Given the description of an element on the screen output the (x, y) to click on. 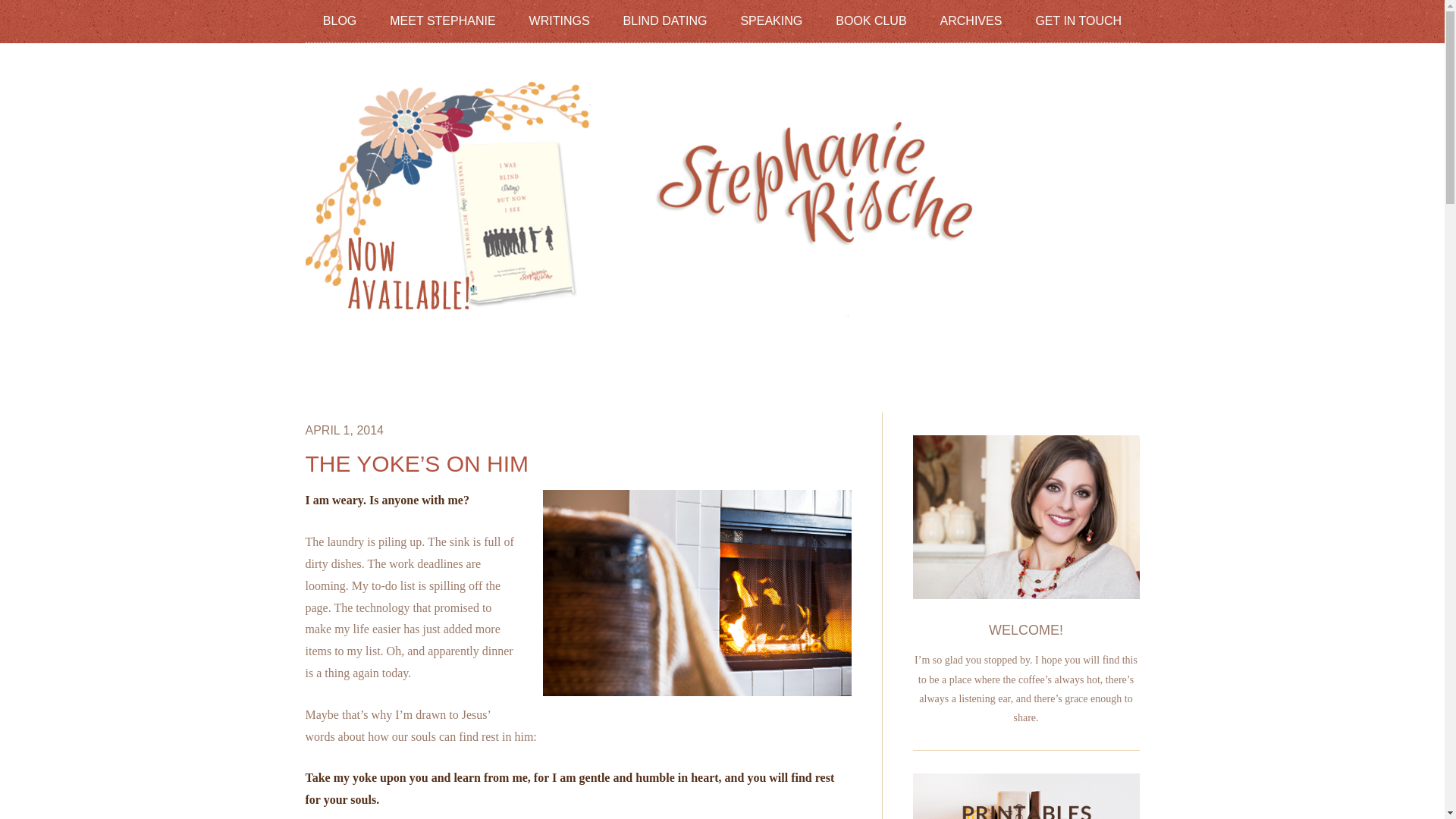
WRITINGS (559, 20)
MEET STEPHANIE (442, 20)
BLIND DATING (665, 20)
BLOG (339, 20)
SPEAKING (770, 20)
BOOK CLUB (870, 20)
Stephanie Rische (721, 306)
ARCHIVES (971, 20)
Rest for your soul (693, 595)
GET IN TOUCH (1078, 20)
